Given the description of an element on the screen output the (x, y) to click on. 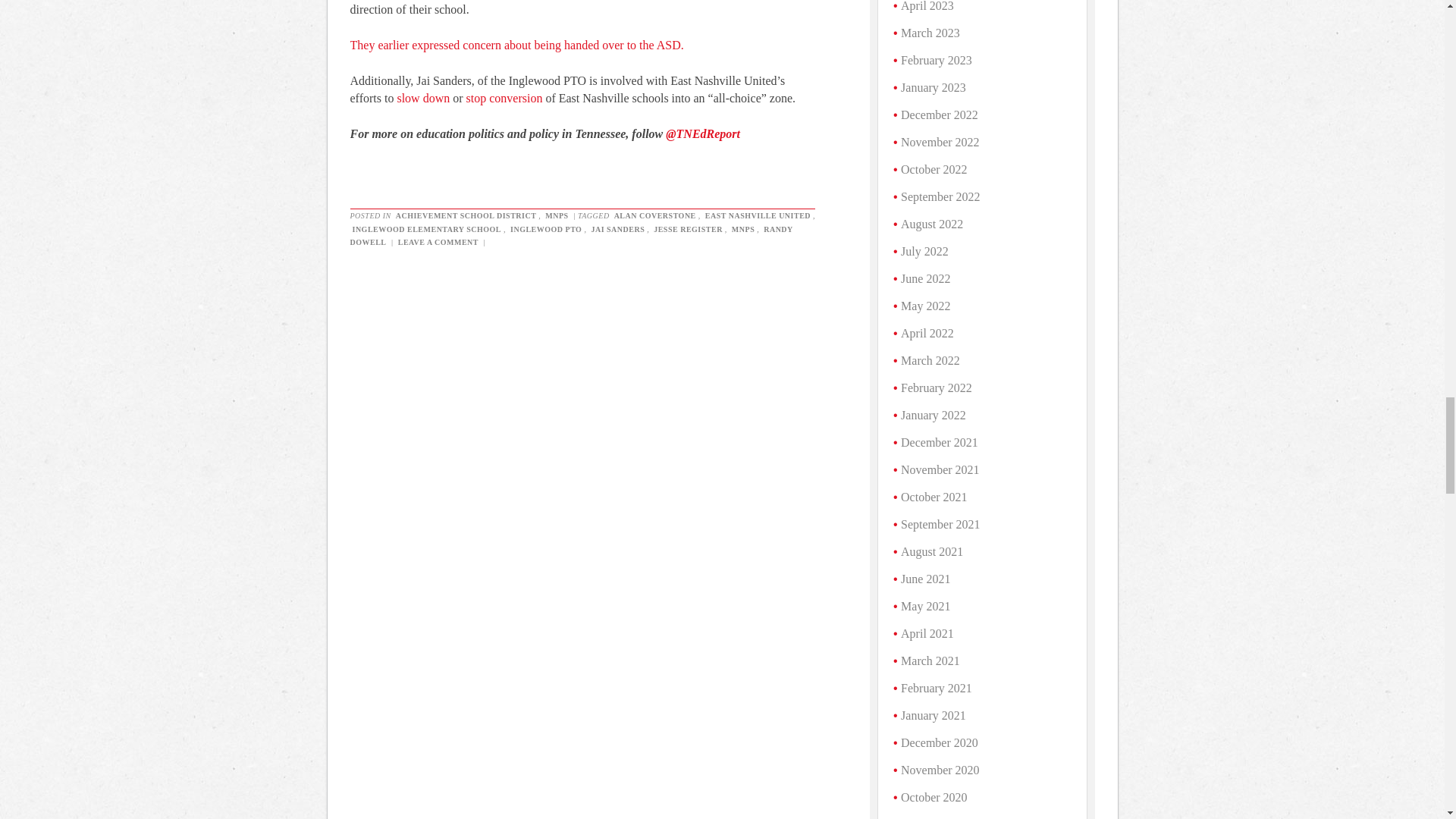
slow down (422, 97)
ACHIEVEMENT SCHOOL DISTRICT (465, 215)
stop conversion (504, 97)
Resisting the ASD (517, 44)
Start Over! Slow Down! Review the Report! (504, 97)
